Given the description of an element on the screen output the (x, y) to click on. 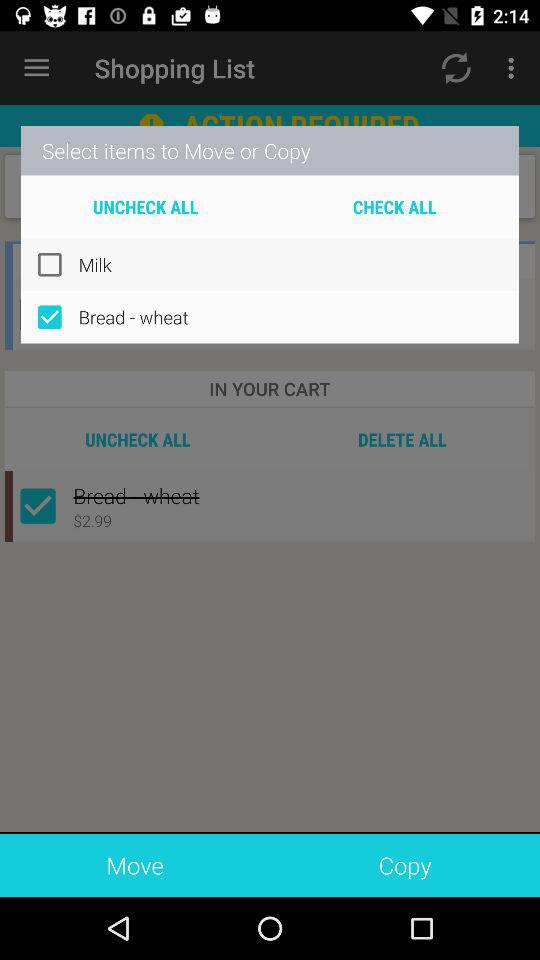
swipe to check all (394, 206)
